Given the description of an element on the screen output the (x, y) to click on. 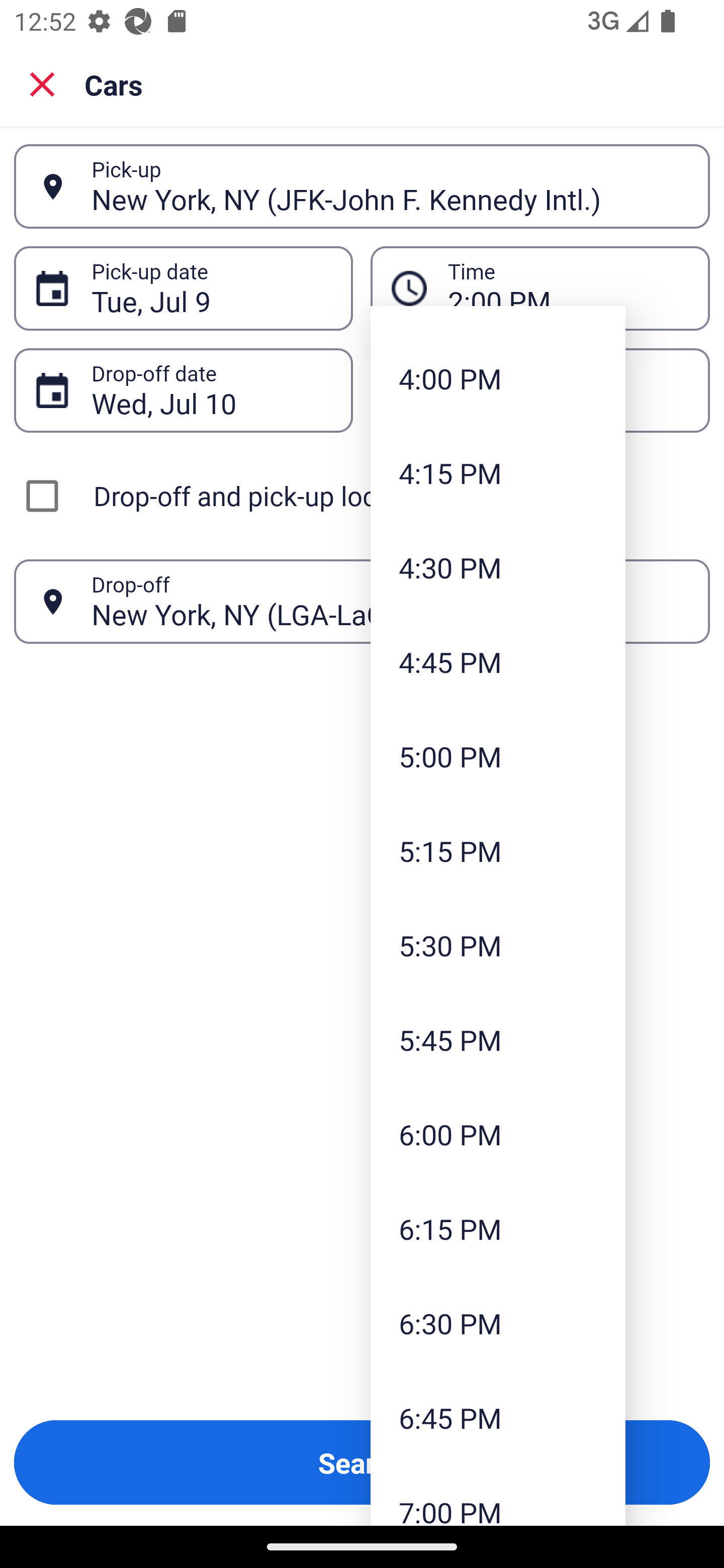
4:00 PM (497, 377)
4:15 PM (497, 472)
4:30 PM (497, 567)
4:45 PM (497, 661)
5:00 PM (497, 755)
5:15 PM (497, 850)
5:30 PM (497, 945)
5:45 PM (497, 1039)
6:00 PM (497, 1134)
6:15 PM (497, 1229)
6:30 PM (497, 1323)
6:45 PM (497, 1417)
7:00 PM (497, 1494)
